Given the description of an element on the screen output the (x, y) to click on. 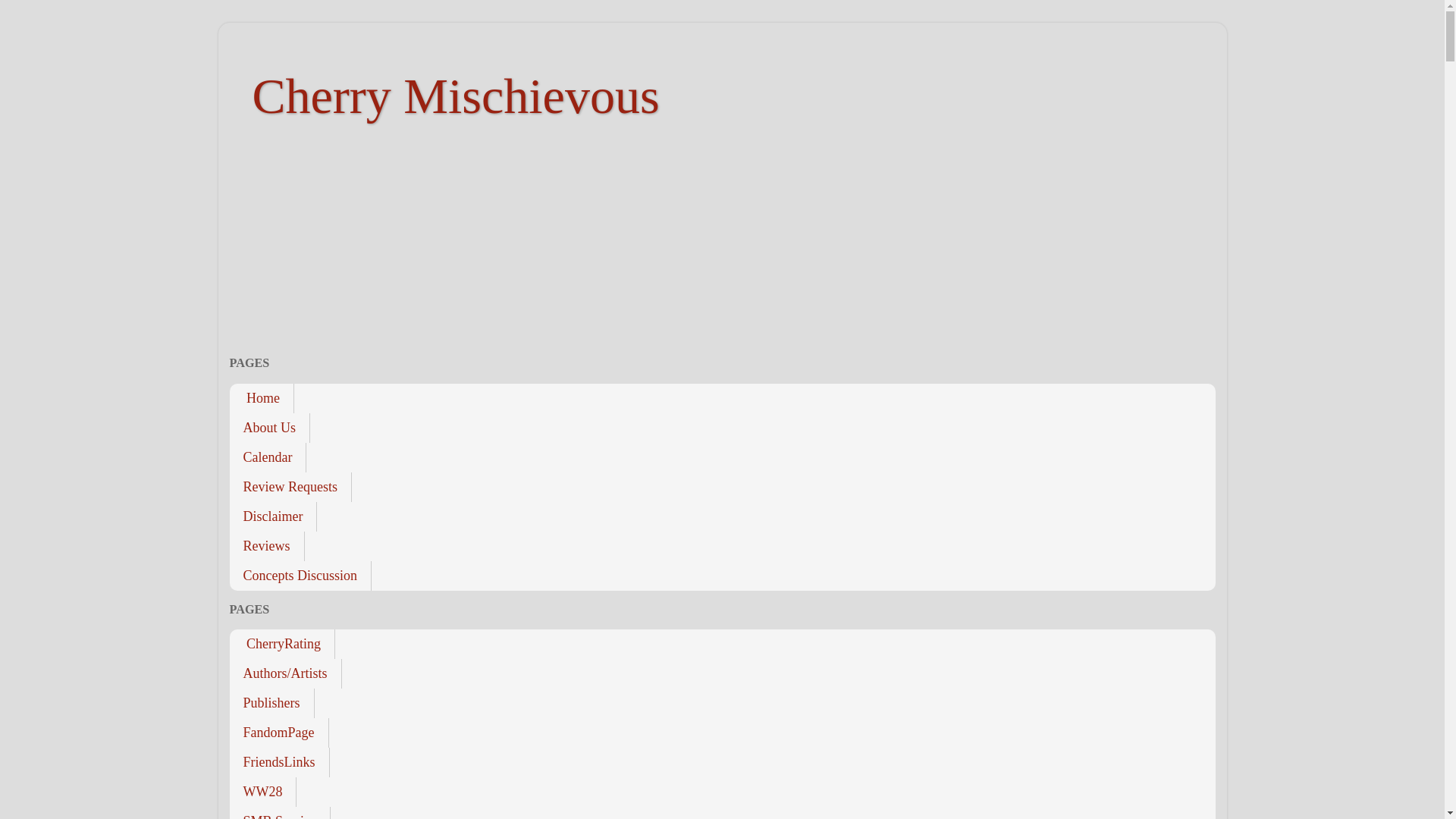
WW28 (262, 791)
Reviews (266, 545)
About Us (269, 427)
Concepts Discussion (299, 575)
Review Requests (289, 486)
SMB Service (279, 812)
Home (261, 398)
Cherry Mischievous (455, 95)
FriendsLinks (278, 762)
Publishers (271, 703)
CherryRating (281, 644)
FandomPage (278, 732)
Disclaimer (272, 516)
Calendar (266, 457)
